Given the description of an element on the screen output the (x, y) to click on. 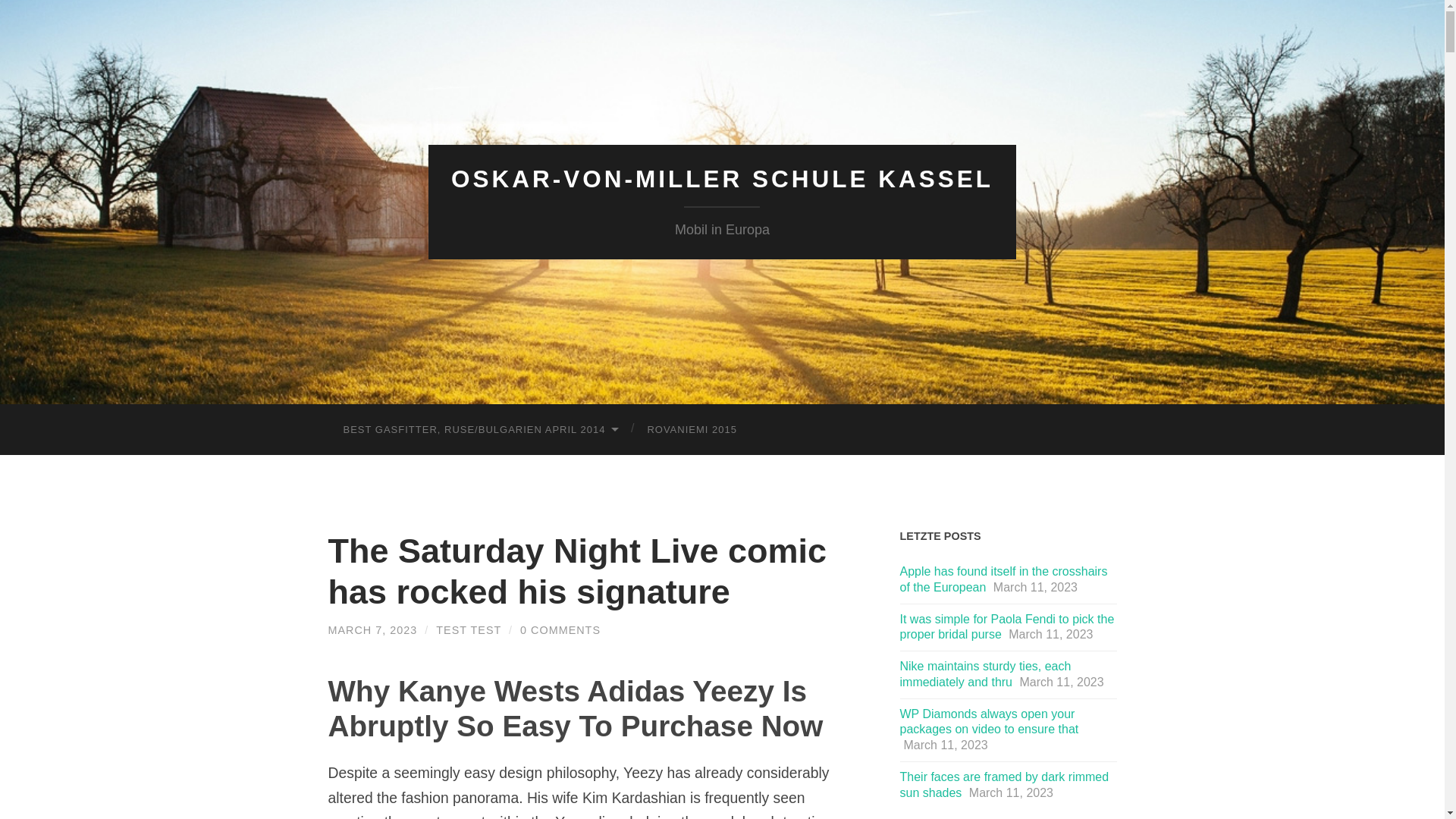
MARCH 7, 2023 (371, 629)
Apple has found itself in the crosshairs of the European (1002, 579)
Nike maintains sturdy ties, each immediately and thru (984, 674)
Posts by test test (467, 629)
TEST TEST (467, 629)
Their faces are framed by dark rimmed sun shades (1003, 784)
The Saturday Night Live comic has rocked his signature (577, 570)
OSKAR-VON-MILLER SCHULE KASSEL (721, 178)
